Given the description of an element on the screen output the (x, y) to click on. 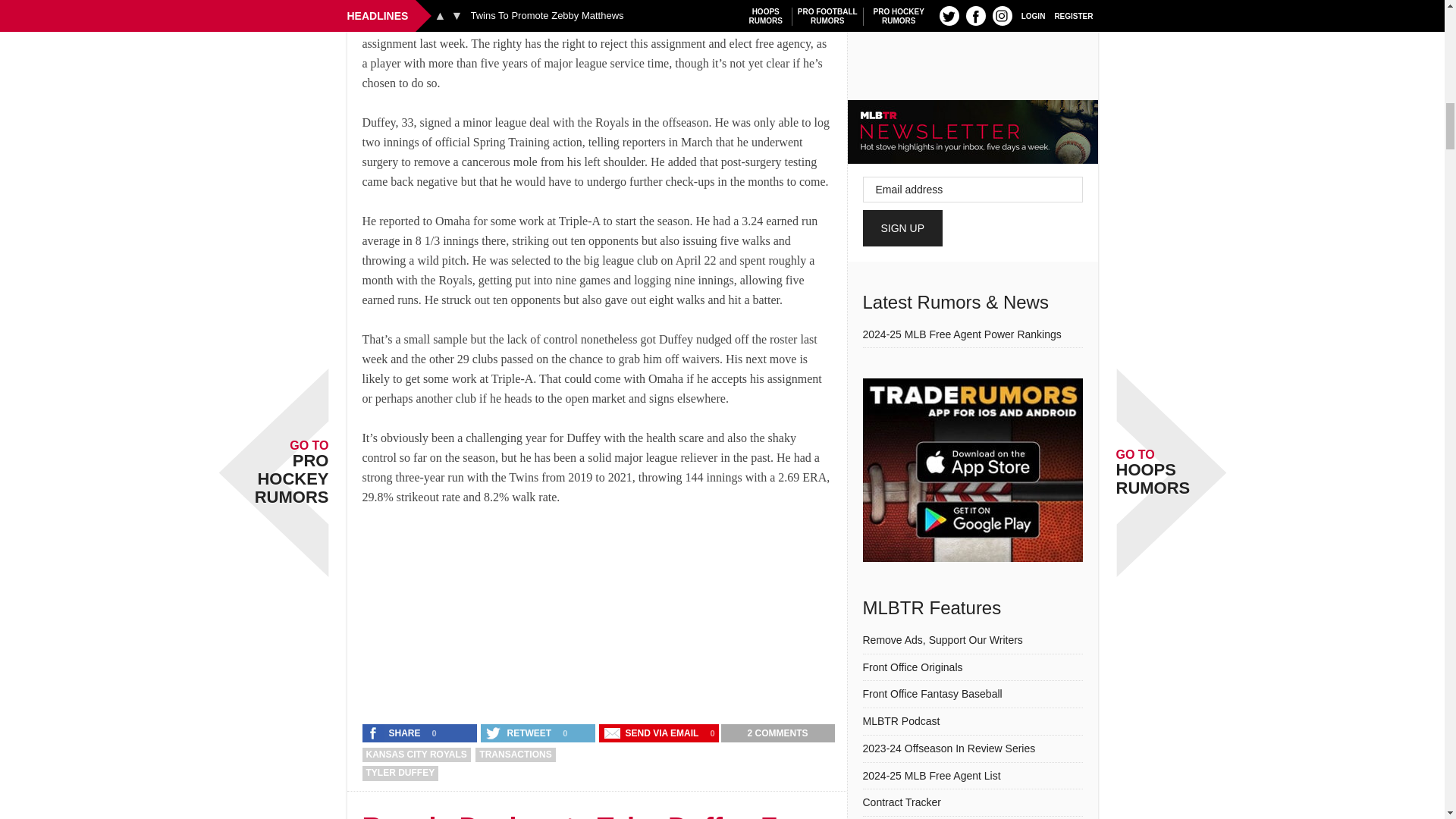
Send Royals Outright Tyler Duffey with an email (652, 732)
Sign Up (903, 227)
Retweet 'Royals Outright Tyler Duffey' on Twitter (519, 732)
Share 'Royals Outright Tyler Duffey' on Facebook (395, 732)
